Given the description of an element on the screen output the (x, y) to click on. 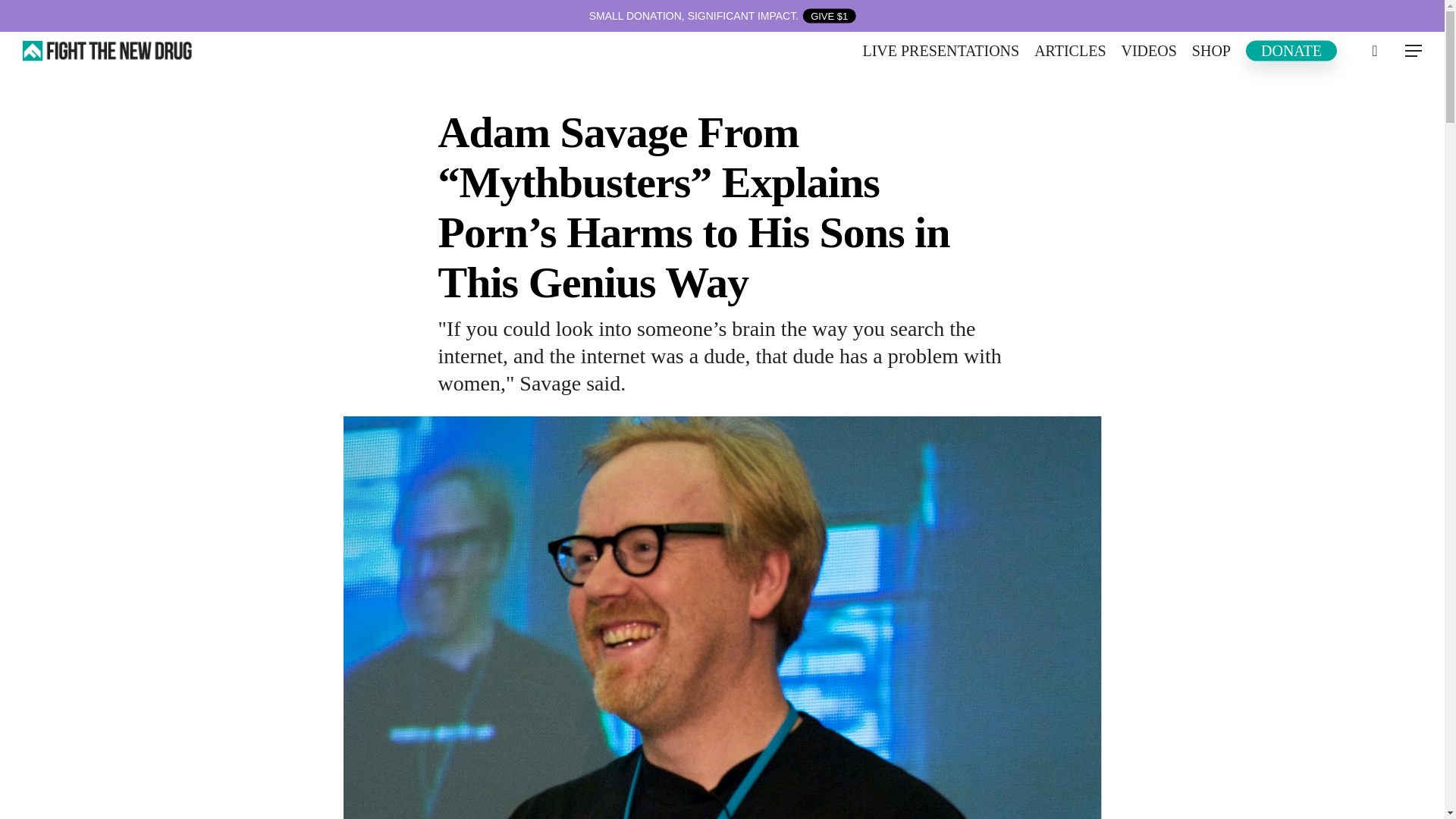
search (1374, 50)
SMALL DONATION, SIGNIFICANT IMPACT. (722, 15)
VIDEOS (1148, 50)
DONATE (1291, 50)
LIVE PRESENTATIONS (940, 50)
Menu (1414, 50)
ARTICLES (1069, 50)
SHOP (1211, 50)
